Given the description of an element on the screen output the (x, y) to click on. 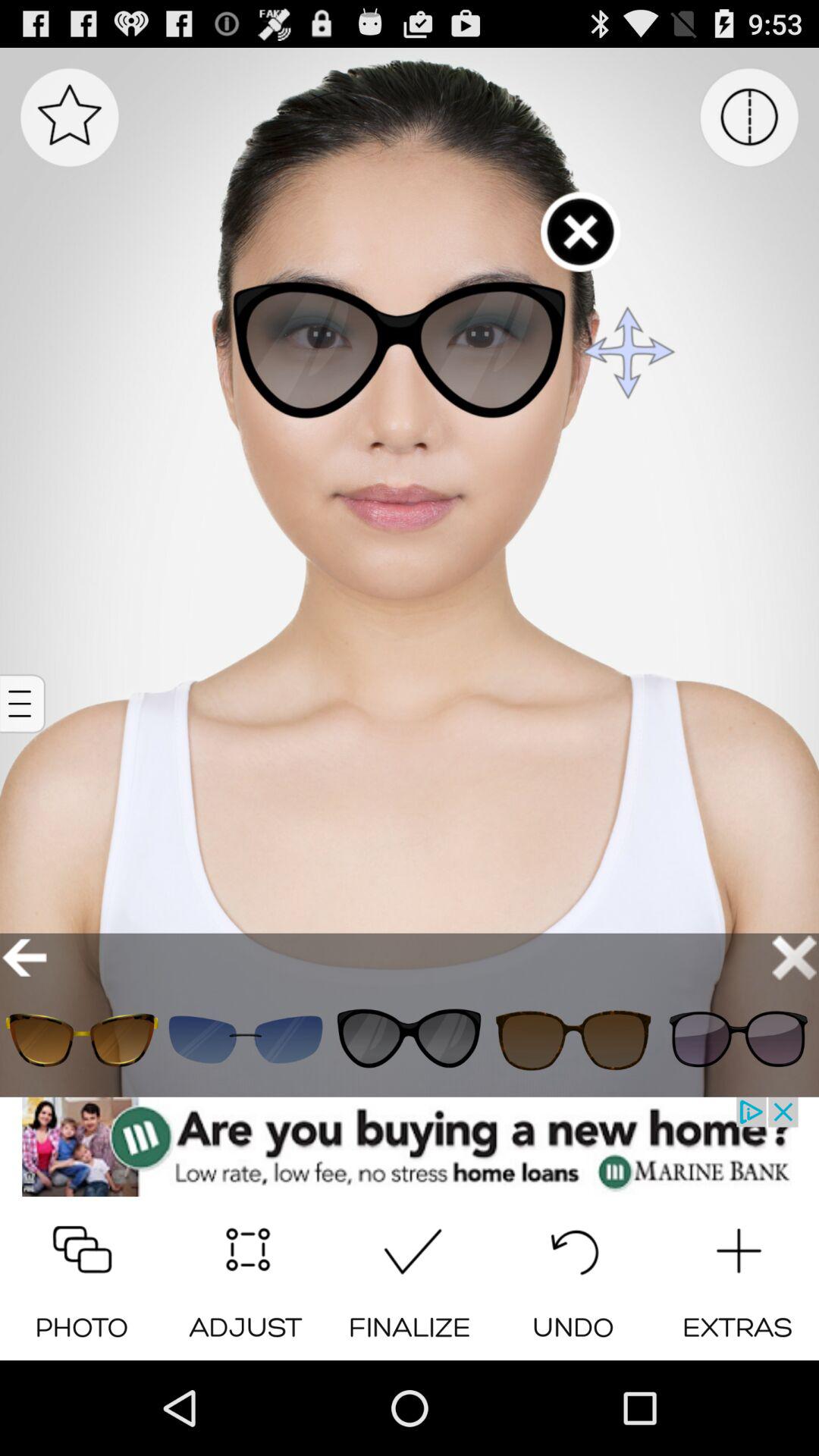
go back (24, 957)
